Given the description of an element on the screen output the (x, y) to click on. 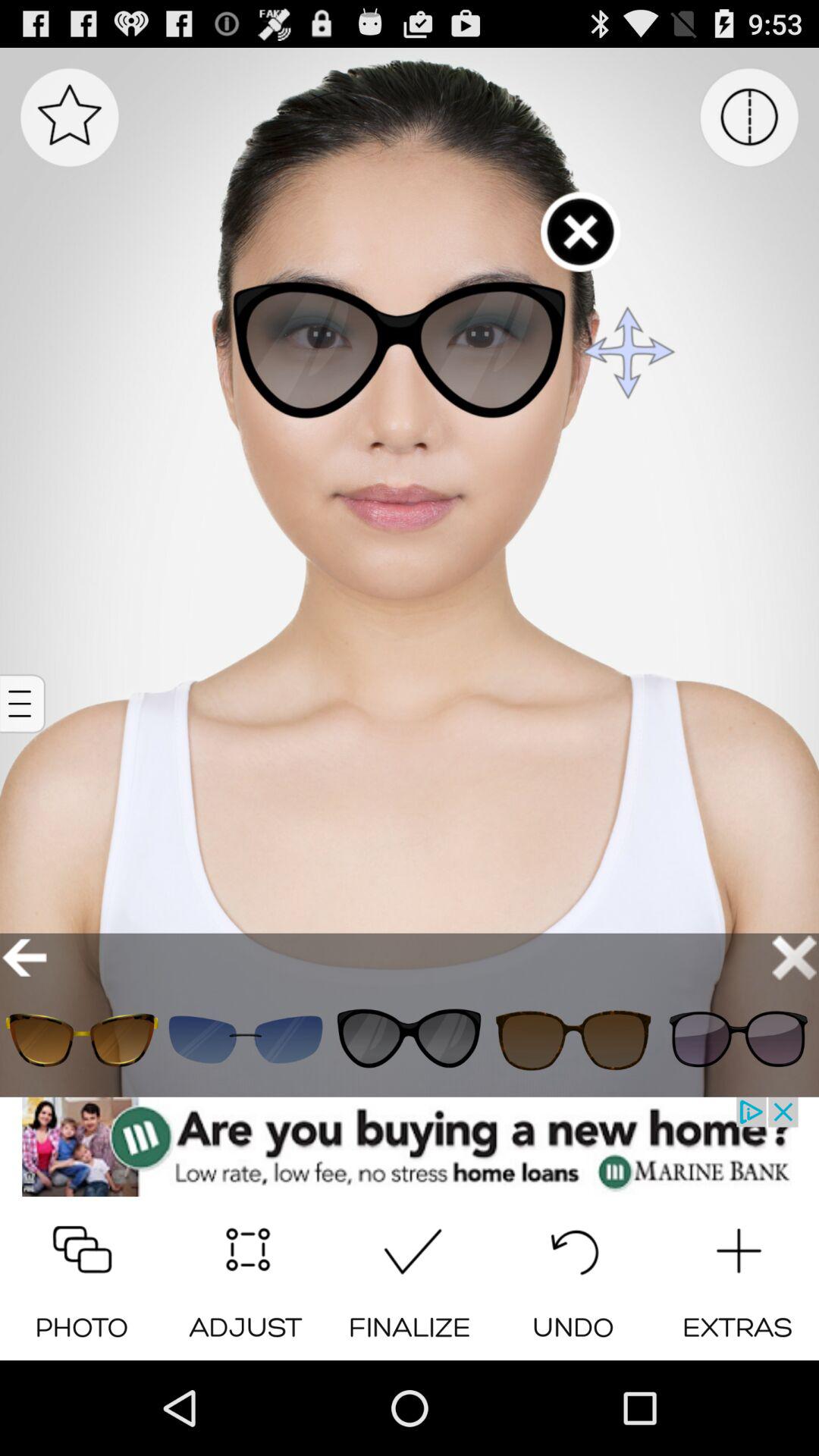
go back (24, 957)
